Given the description of an element on the screen output the (x, y) to click on. 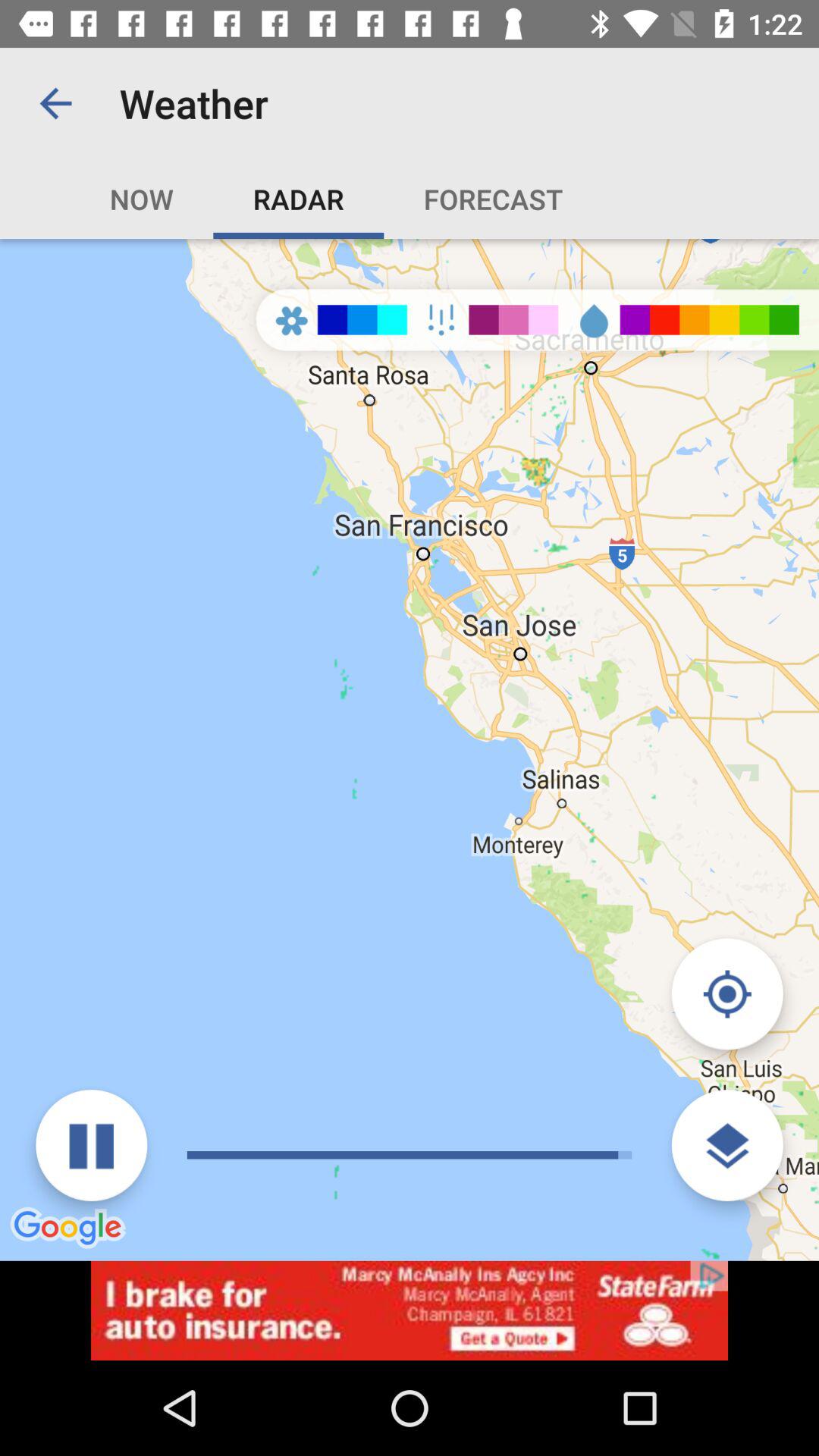
pause video (91, 1145)
